Given the description of an element on the screen output the (x, y) to click on. 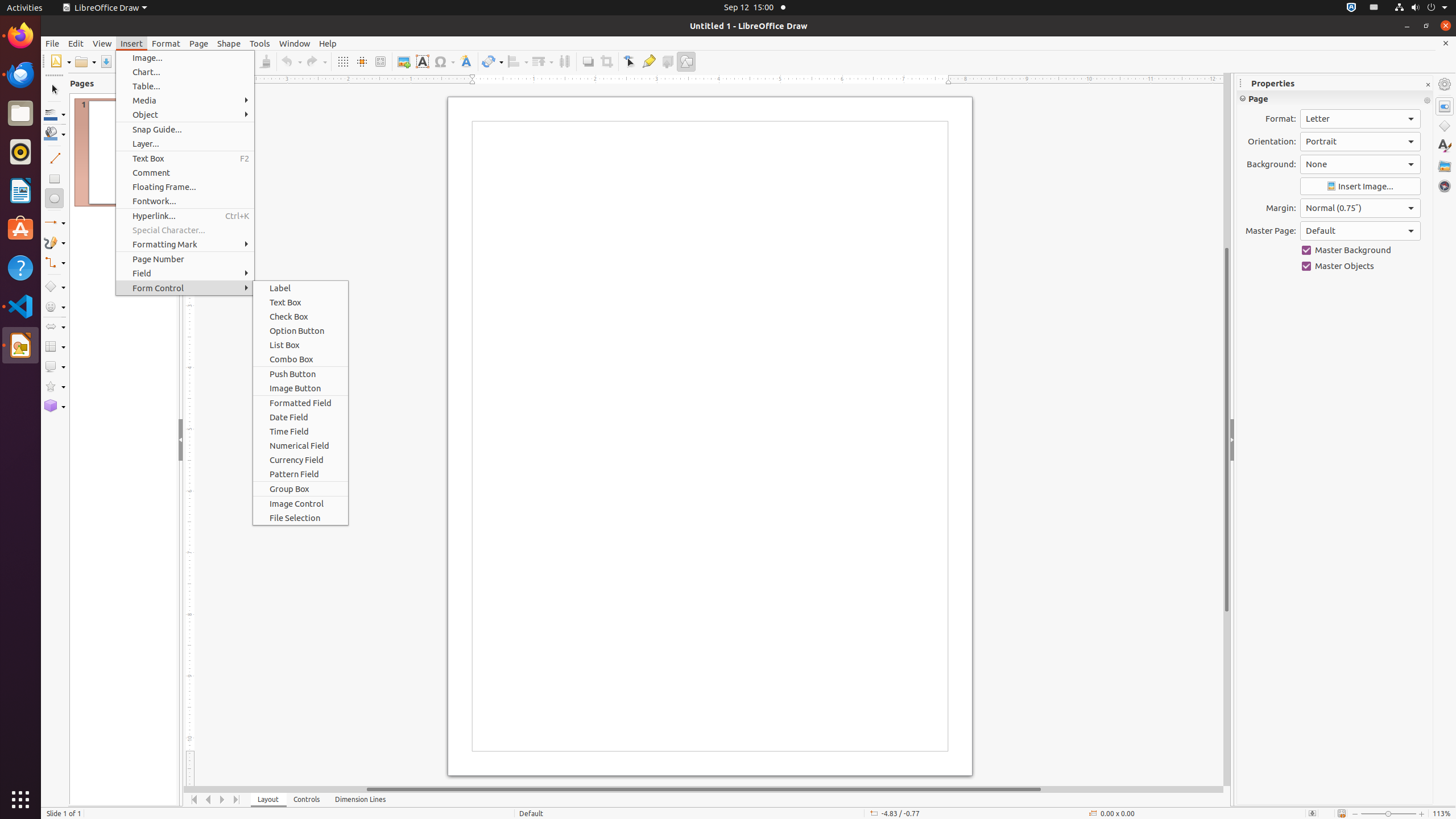
Zoom & Pan Element type: push-button (379, 61)
Gallery Element type: radio-button (1444, 165)
System Element type: menu (1420, 7)
Layer... Element type: menu-item (185, 143)
